Given the description of an element on the screen output the (x, y) to click on. 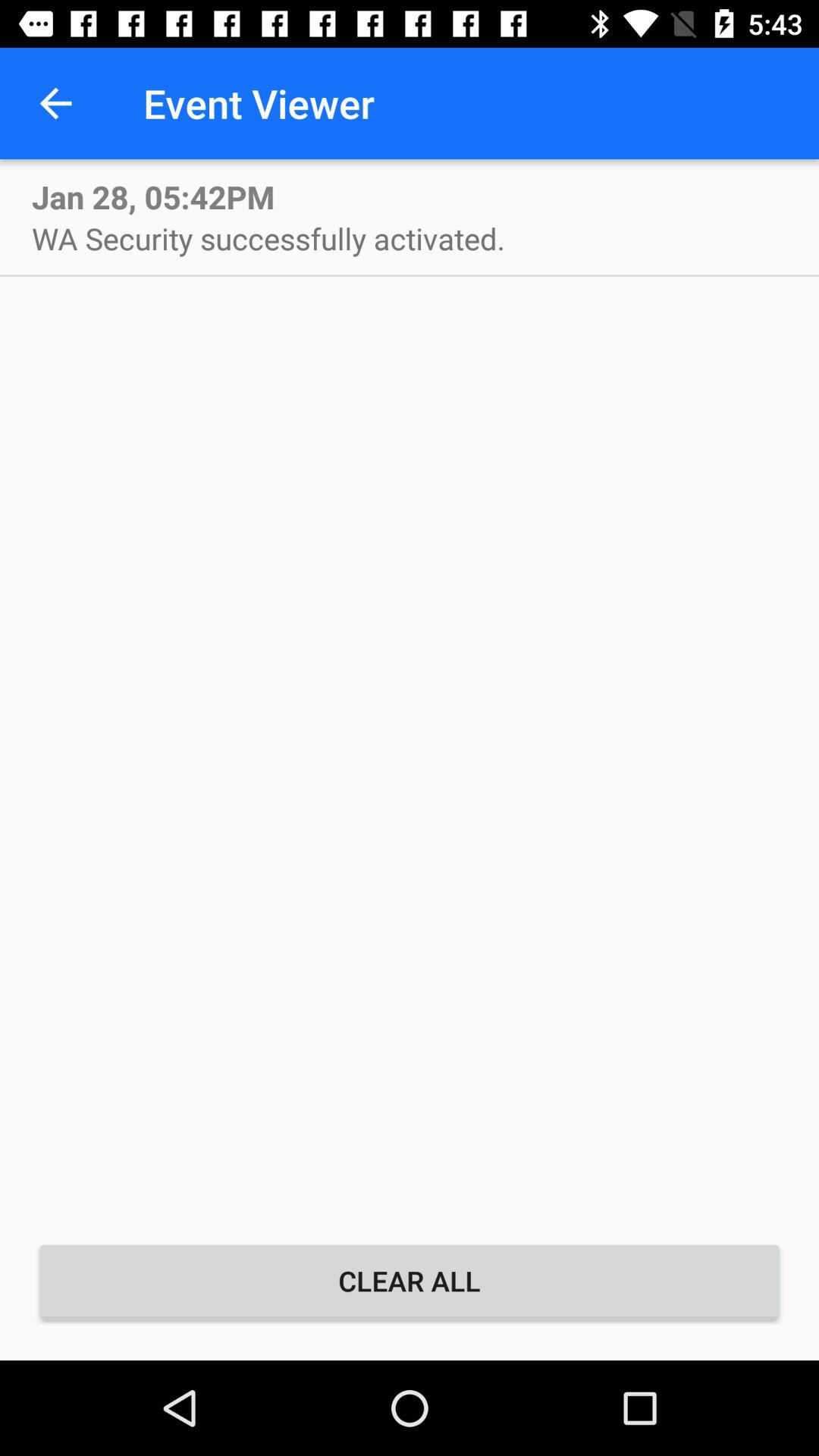
launch icon above the clear all item (268, 238)
